Given the description of an element on the screen output the (x, y) to click on. 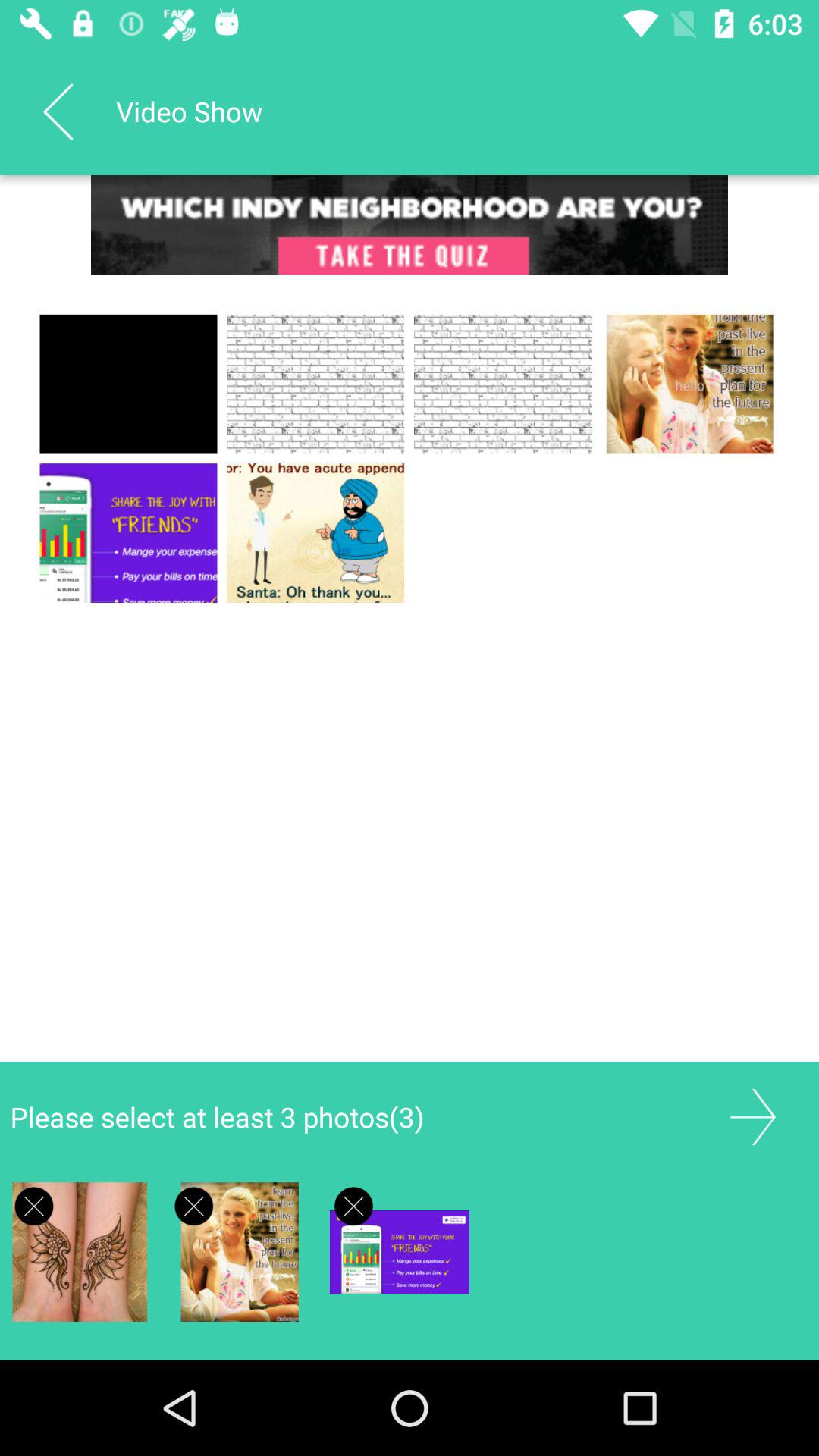
delete the photo (193, 1206)
